Given the description of an element on the screen output the (x, y) to click on. 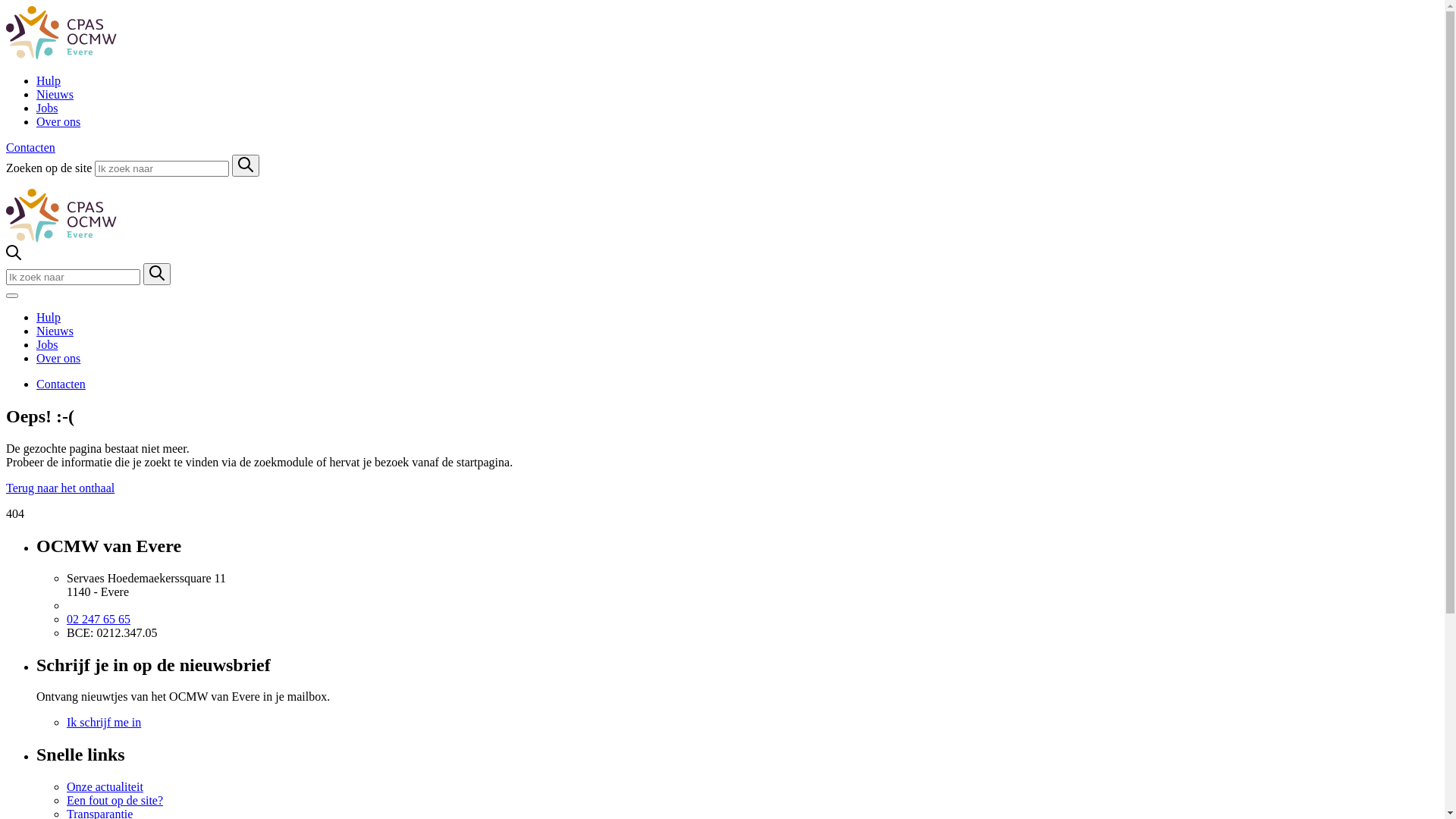
Nieuws Element type: text (54, 93)
Nieuws Element type: text (54, 330)
Een fout op de site? Element type: text (114, 799)
Contacten Element type: text (60, 383)
Hulp Element type: text (48, 80)
Terug naar het onthaal Element type: text (60, 487)
Jobs Element type: text (46, 344)
02 247 65 65 Element type: text (98, 618)
Over ons Element type: text (58, 121)
Onze actualiteit Element type: text (104, 786)
Over ons Element type: text (58, 357)
Hulp Element type: text (48, 316)
Contacten Element type: text (30, 147)
Ik schrijf me in Element type: text (103, 721)
Jobs Element type: text (46, 107)
